Given the description of an element on the screen output the (x, y) to click on. 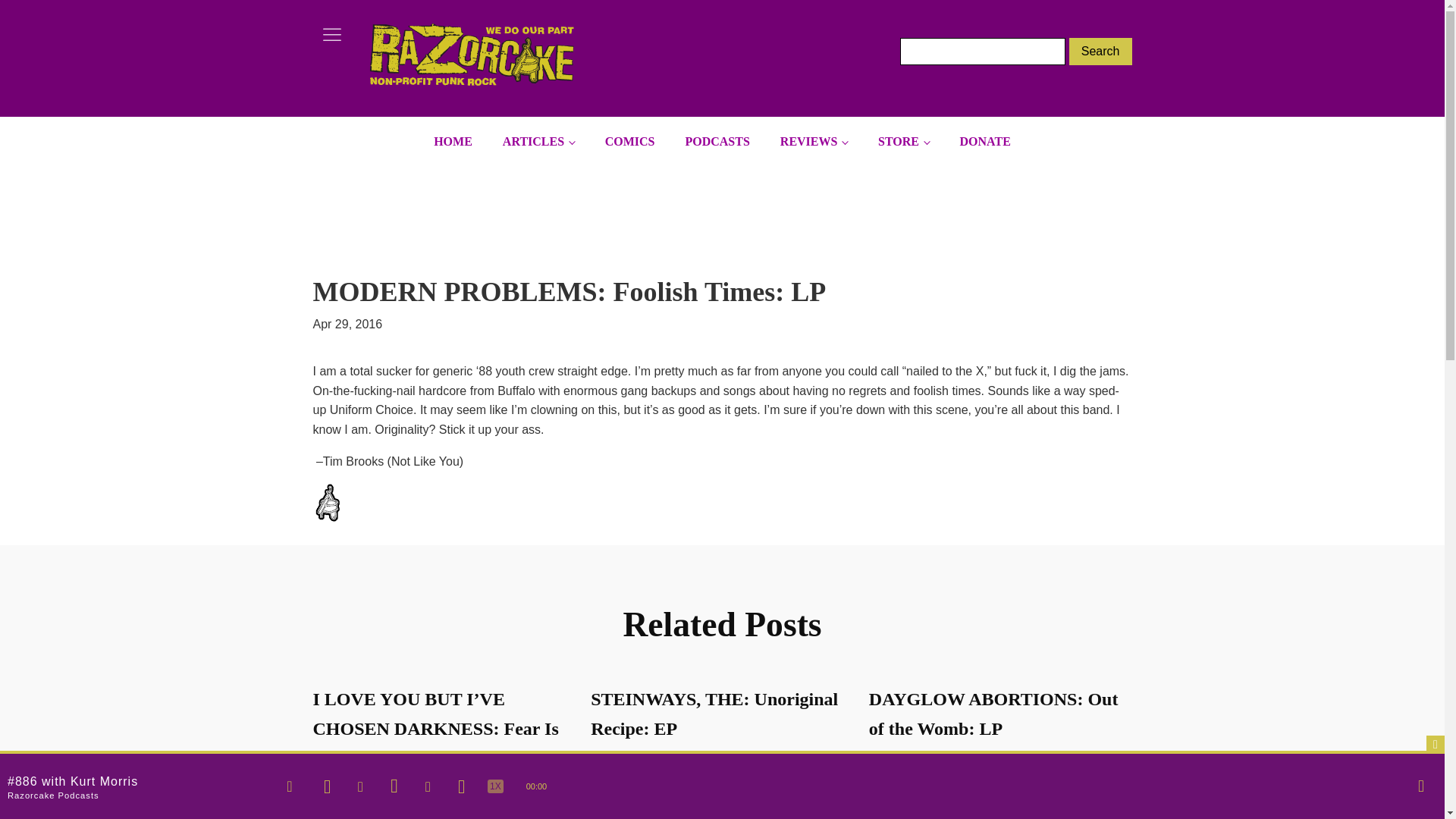
PODCASTS (716, 142)
COMICS (629, 142)
Volume (1420, 786)
Search (1100, 51)
HOME (453, 142)
ARTICLES (538, 142)
Search (1100, 51)
